Given the description of an element on the screen output the (x, y) to click on. 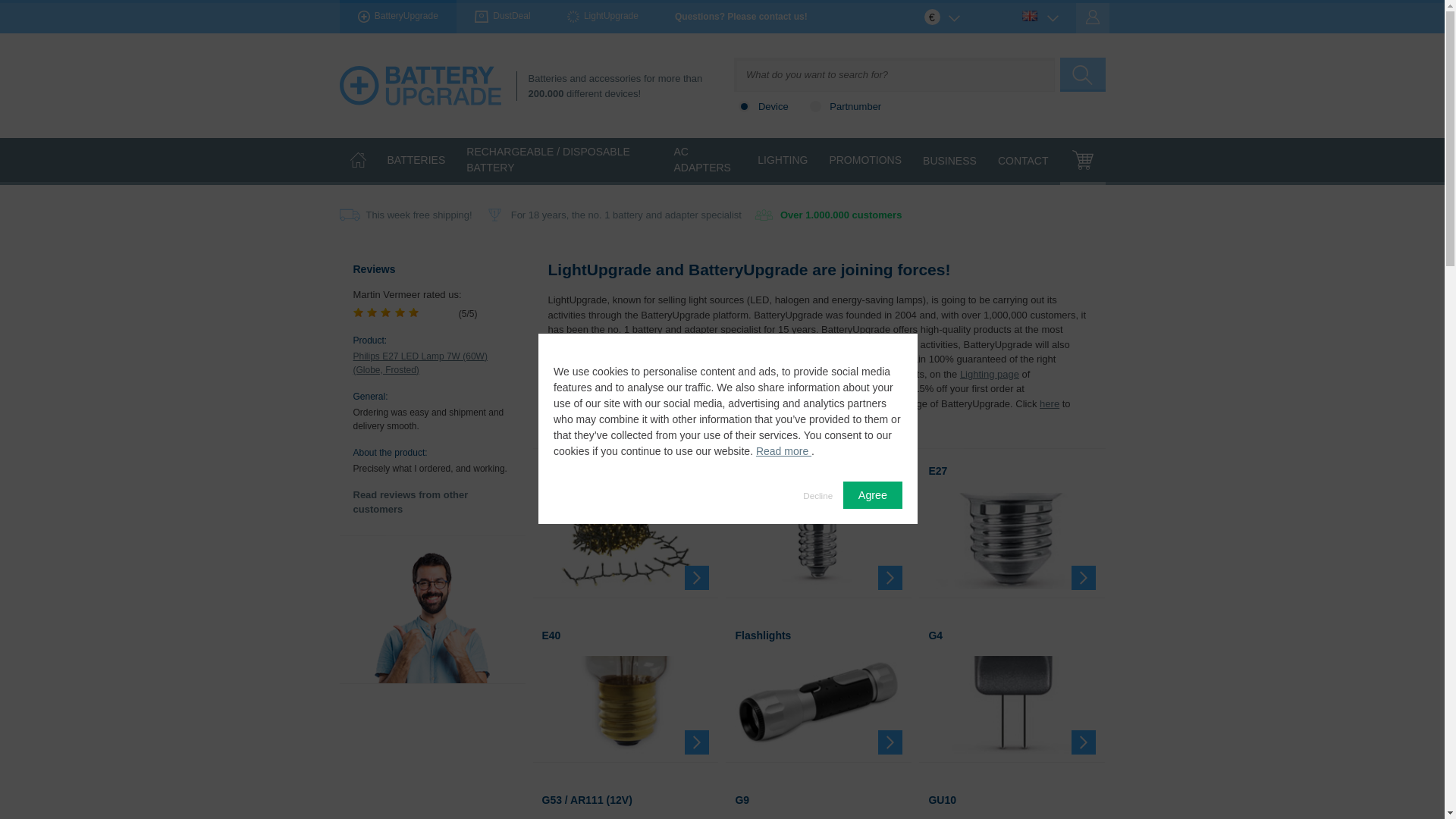
DustDeal (502, 16)
BATTERIES (415, 161)
LightUpgrade (602, 16)
Questions? Please contact us! (740, 16)
BatteryUpgrade (398, 16)
